Given the description of an element on the screen output the (x, y) to click on. 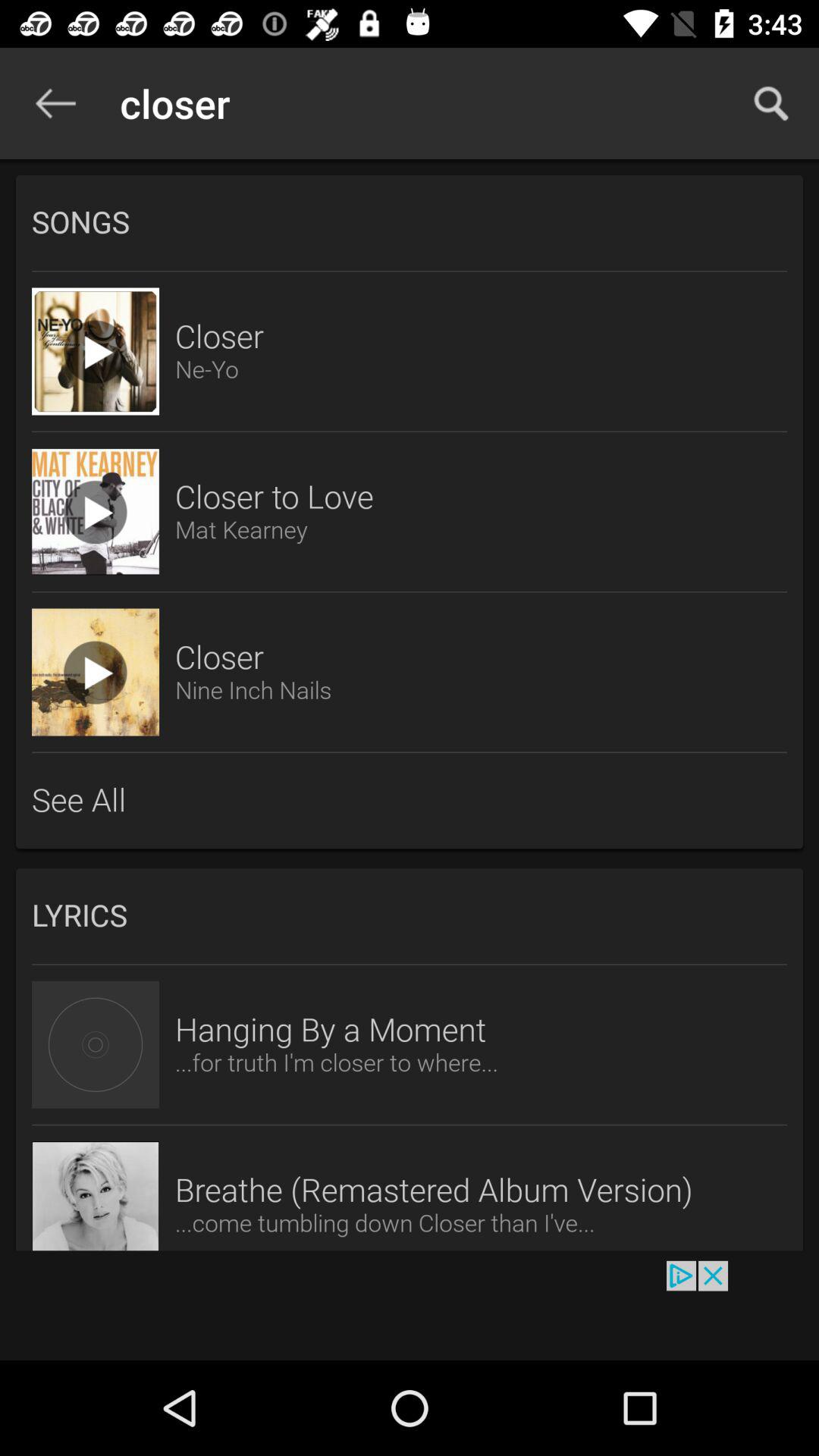
select the item next to closer icon (771, 103)
